Given the description of an element on the screen output the (x, y) to click on. 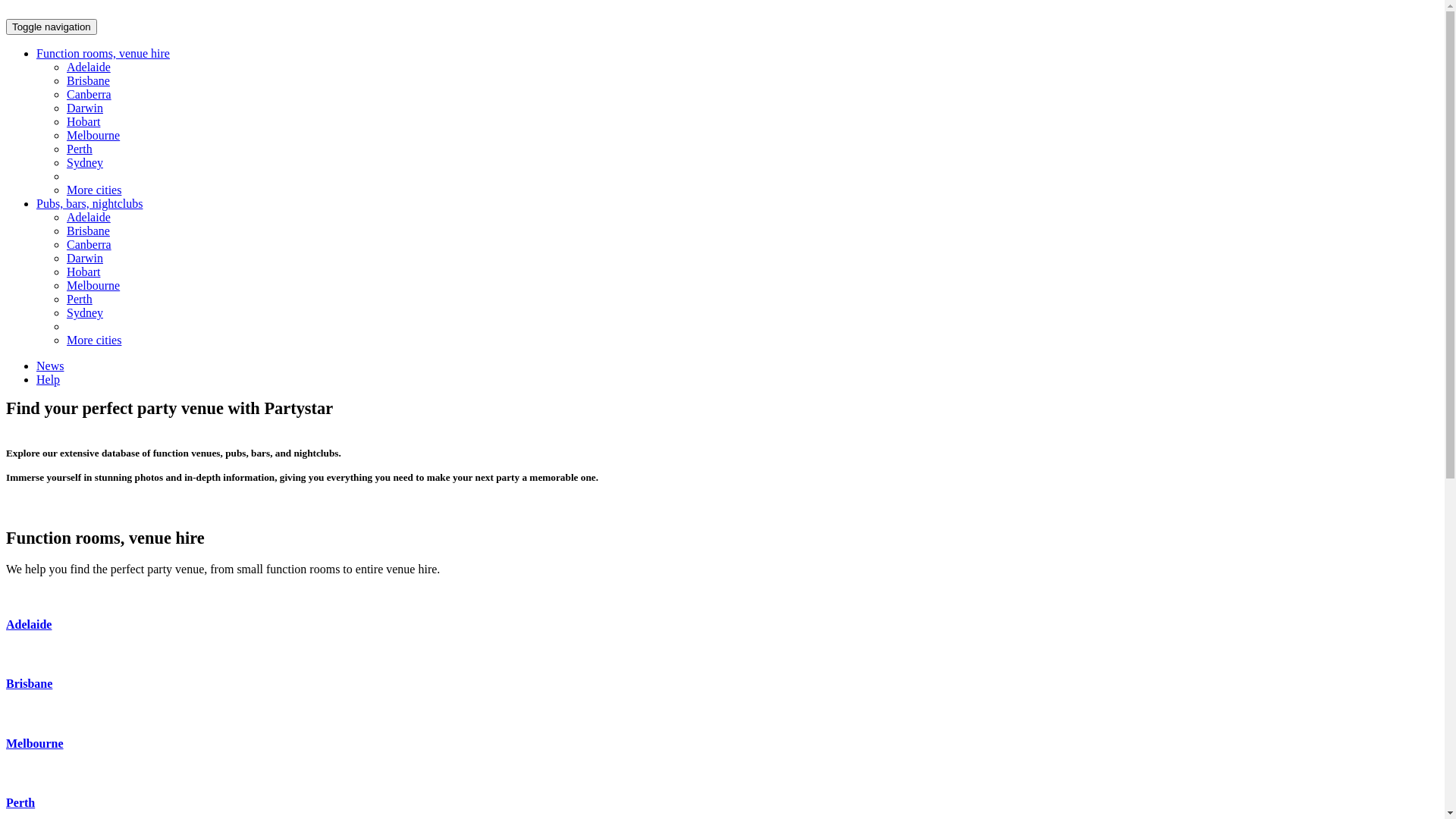
Hobart Element type: text (83, 121)
Melbourne Element type: text (34, 743)
Help Element type: text (47, 379)
Canberra Element type: text (88, 93)
Adelaide Element type: text (28, 624)
Brisbane Element type: text (29, 683)
Toggle navigation Element type: text (51, 26)
More cities Element type: text (93, 339)
Perth Element type: text (20, 802)
Pubs, bars, nightclubs Element type: text (89, 203)
Melbourne Element type: text (92, 134)
Melbourne Element type: text (92, 285)
News Element type: text (49, 365)
Perth Element type: text (79, 148)
Brisbane Element type: text (87, 80)
Sydney Element type: text (84, 312)
Adelaide Element type: text (88, 216)
Function rooms, venue hire Element type: text (102, 53)
Perth Element type: text (79, 298)
More cities Element type: text (93, 189)
Brisbane Element type: text (87, 230)
Sydney Element type: text (84, 162)
Darwin Element type: text (84, 257)
Adelaide Element type: text (88, 66)
Hobart Element type: text (83, 271)
Darwin Element type: text (84, 107)
Canberra Element type: text (88, 244)
